Given the description of an element on the screen output the (x, y) to click on. 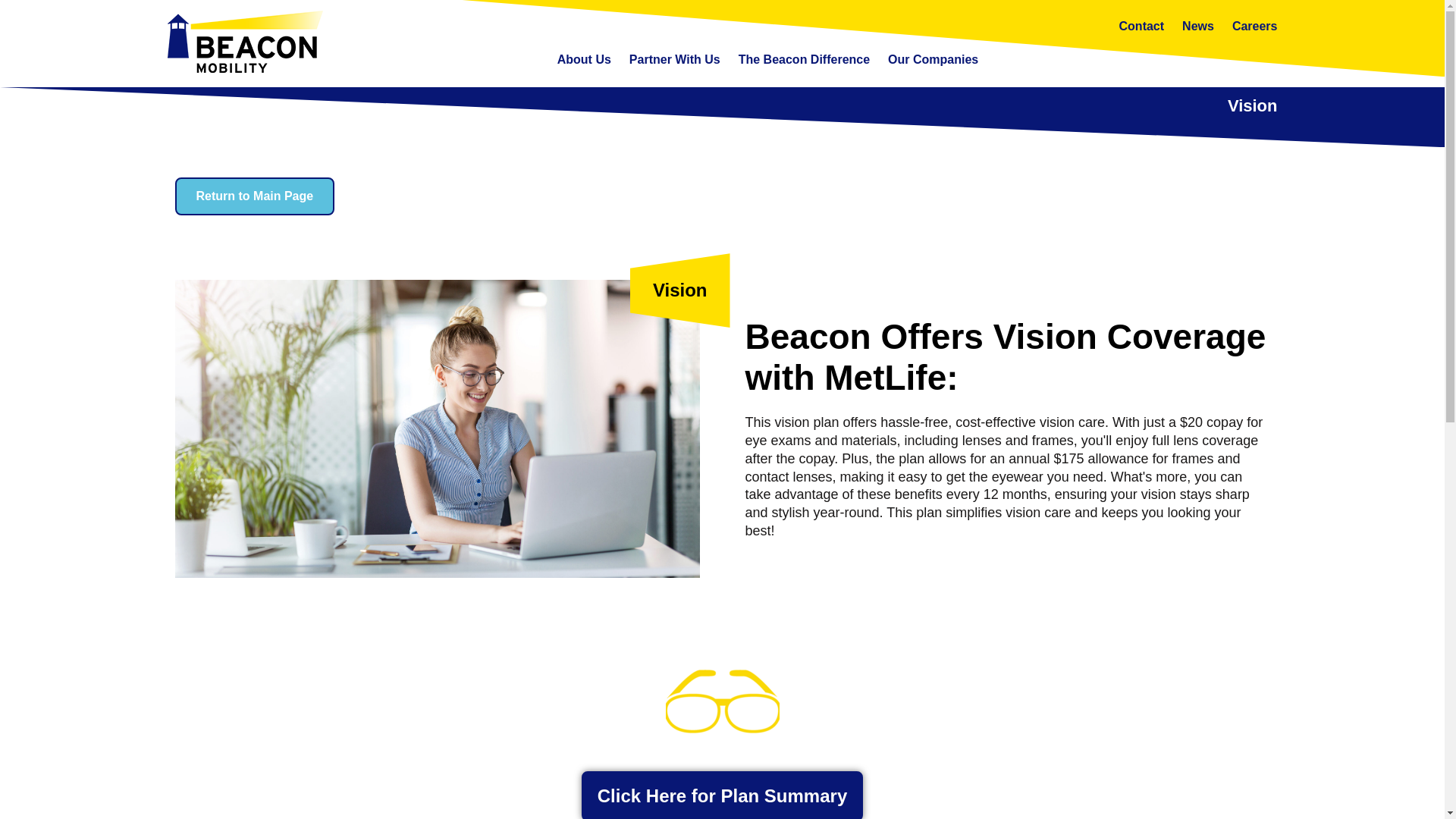
News (1198, 25)
Contact (1141, 25)
Careers (1254, 25)
Our Companies (933, 59)
Partner With Us (674, 59)
Click Here for Plan Summary (721, 795)
Return to Main Page (254, 196)
About Us (584, 59)
The Beacon Difference (803, 59)
